Given the description of an element on the screen output the (x, y) to click on. 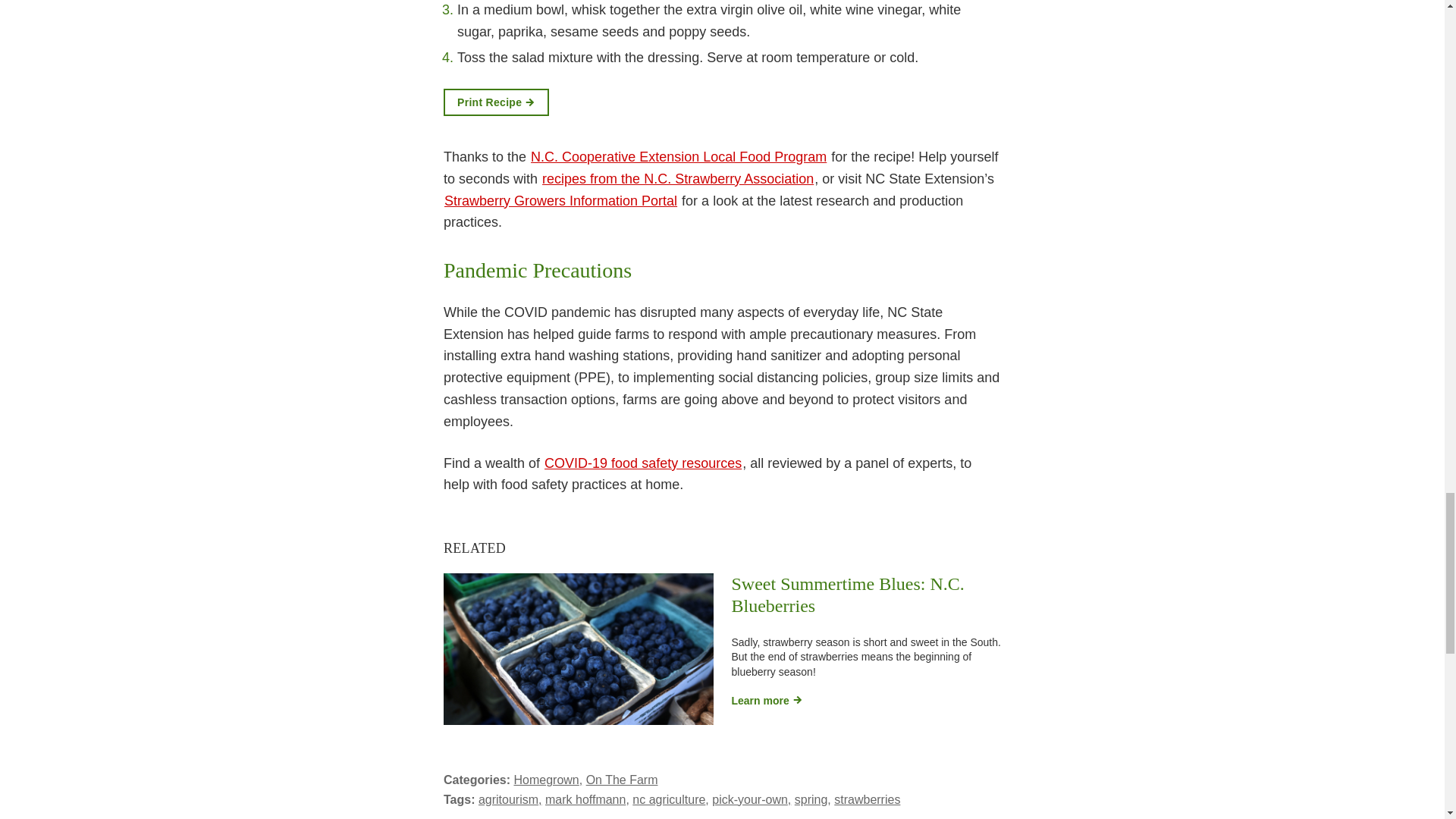
nc agriculture (670, 799)
spring (812, 799)
Strawberry Growers Information Portal (561, 200)
Homegrown (547, 779)
pick-your-own (750, 799)
On The Farm (622, 779)
COVID-19 food safety resources (642, 462)
Print Recipe (496, 102)
agritourism (510, 799)
mark hoffmann (586, 799)
strawberries (866, 799)
recipes from the N.C. Strawberry Association (677, 178)
N.C. Cooperative Extension Local Food Program (678, 156)
